Given the description of an element on the screen output the (x, y) to click on. 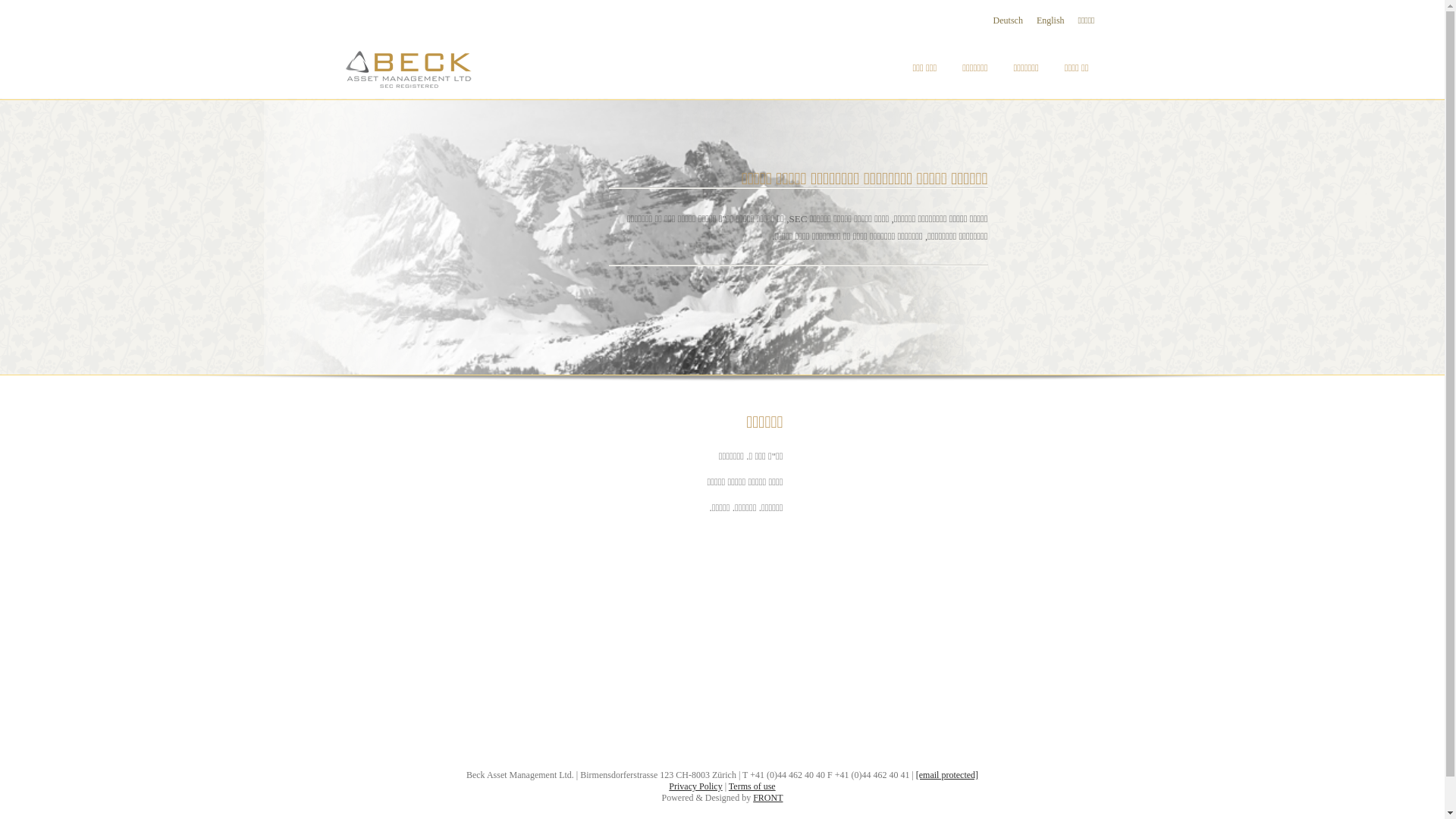
Beck Element type: hover (418, 63)
Privacy Policy Element type: text (694, 786)
FRONT Element type: text (767, 797)
[email protected] Element type: text (947, 774)
Terms of use Element type: text (751, 786)
Deutsch Element type: text (1007, 20)
English Element type: text (1050, 20)
